Given the description of an element on the screen output the (x, y) to click on. 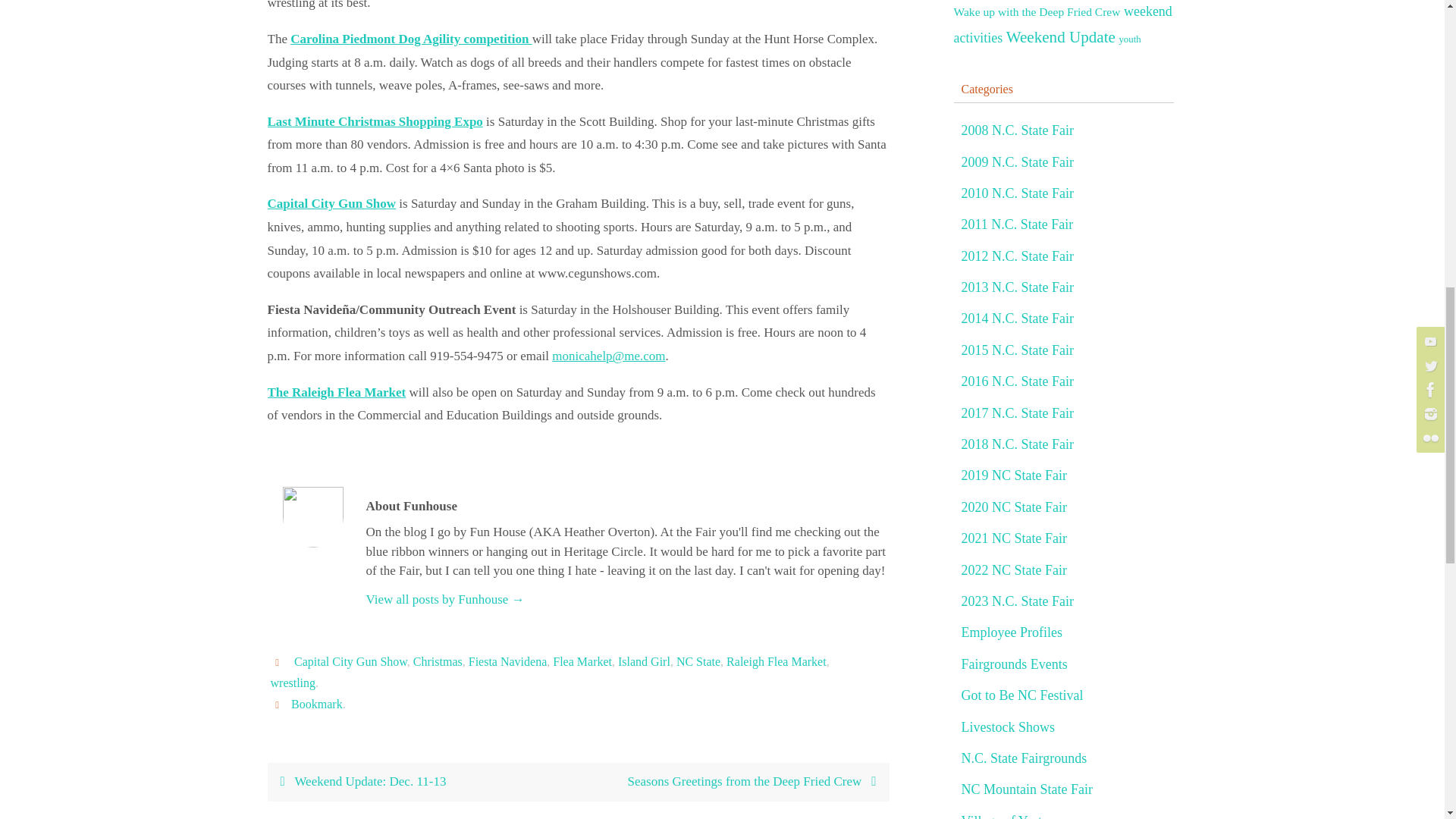
Capital City Gun Show (331, 203)
Capital City Gun Show (350, 662)
Fiesta Navidena (507, 662)
Carolina Piedmont Dog Agility competition (410, 38)
Island Girl (643, 662)
Christmas (438, 662)
Last Minute Christmas Shopping Expo (373, 121)
Weekend Update: Dec. 11-13 (422, 781)
Flea Market (582, 662)
Seasons Greetings from the Deep Fried Crew (733, 781)
wrestling (292, 683)
Bookmark (316, 704)
The Raleigh Flea Market (336, 391)
NC State (698, 662)
Raleigh Flea Market (776, 662)
